Given the description of an element on the screen output the (x, y) to click on. 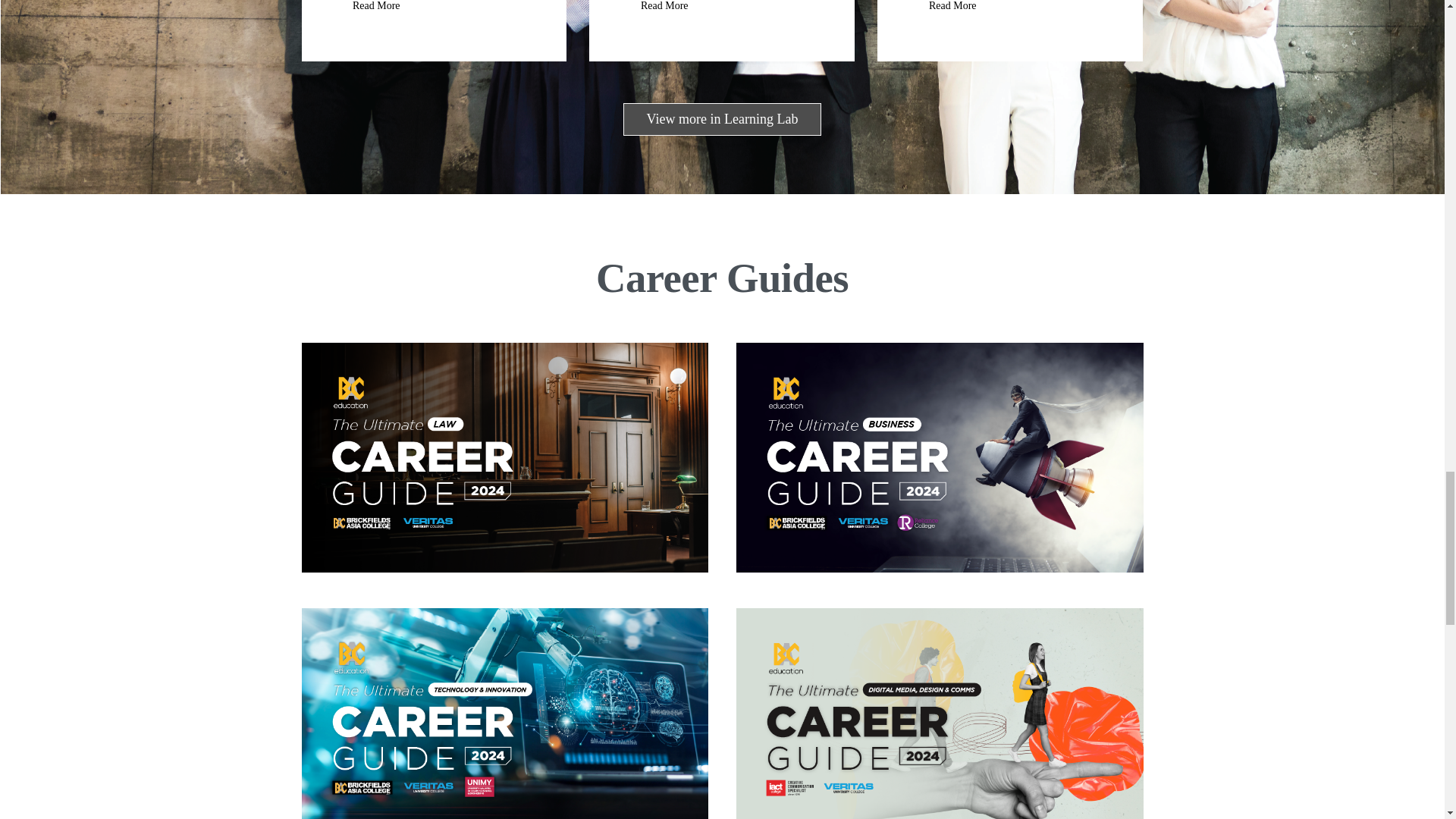
View more in Learning Lab (722, 119)
Read More (664, 11)
Read More (376, 11)
Read More (952, 11)
